Given the description of an element on the screen output the (x, y) to click on. 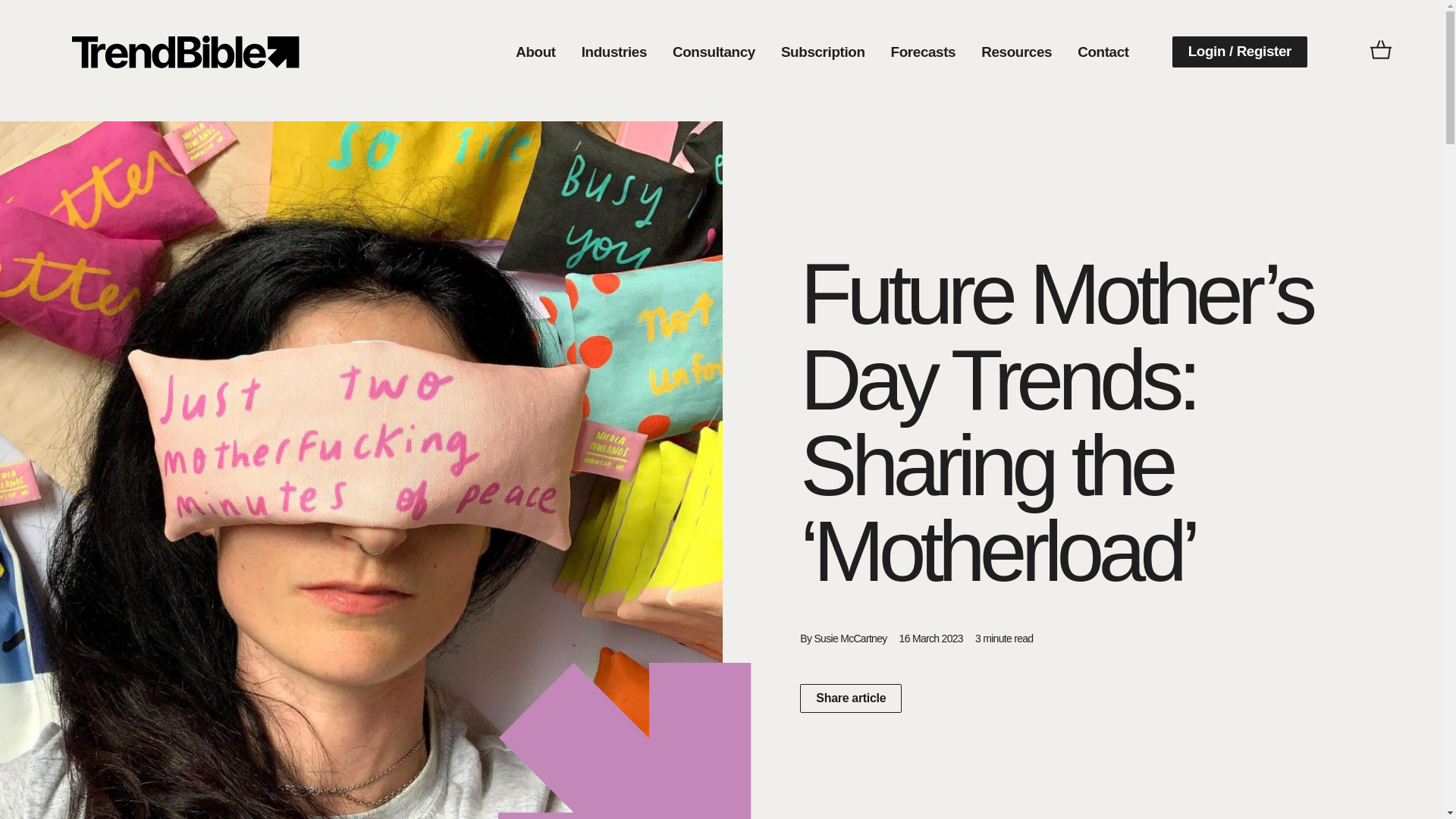
Subscription (822, 52)
Forecasts (923, 52)
Industries (614, 52)
My Account (185, 51)
Consultancy (713, 52)
Share article (850, 697)
Contact (1102, 52)
About (535, 52)
Resources (1016, 52)
